Given the description of an element on the screen output the (x, y) to click on. 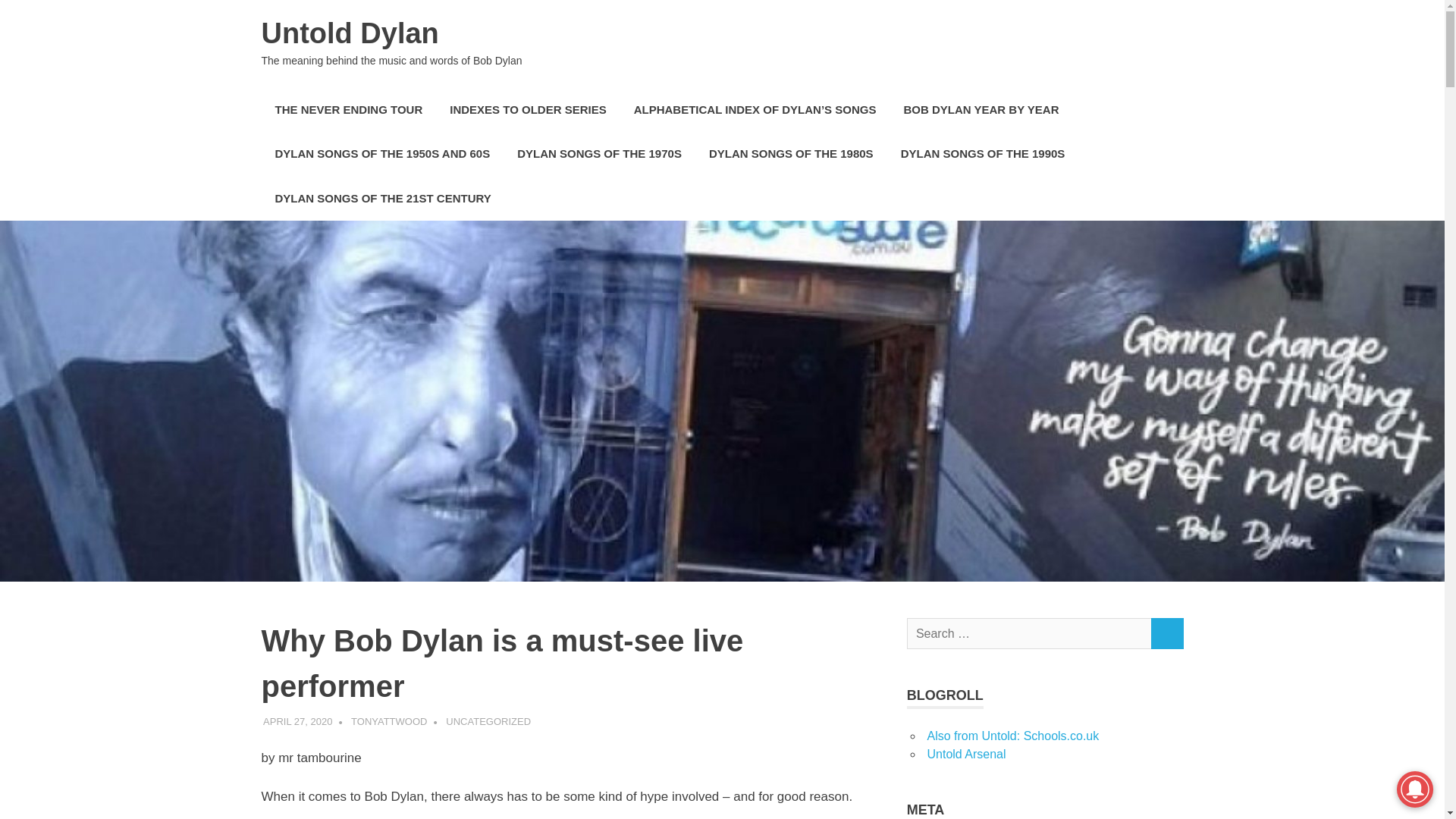
2:23 pm (297, 721)
INDEXES TO OLDER SERIES (527, 109)
Also from Untold: Schools.co.uk (1012, 735)
Untold Dylan (349, 33)
DYLAN SONGS OF THE 1970S (599, 153)
DYLAN SONGS OF THE 1950S AND 60S (381, 153)
UNCATEGORIZED (488, 721)
View all posts by TonyAttwood (388, 721)
BOB DYLAN YEAR BY YEAR (980, 109)
From the same guys: our other hobby (966, 753)
